Given the description of an element on the screen output the (x, y) to click on. 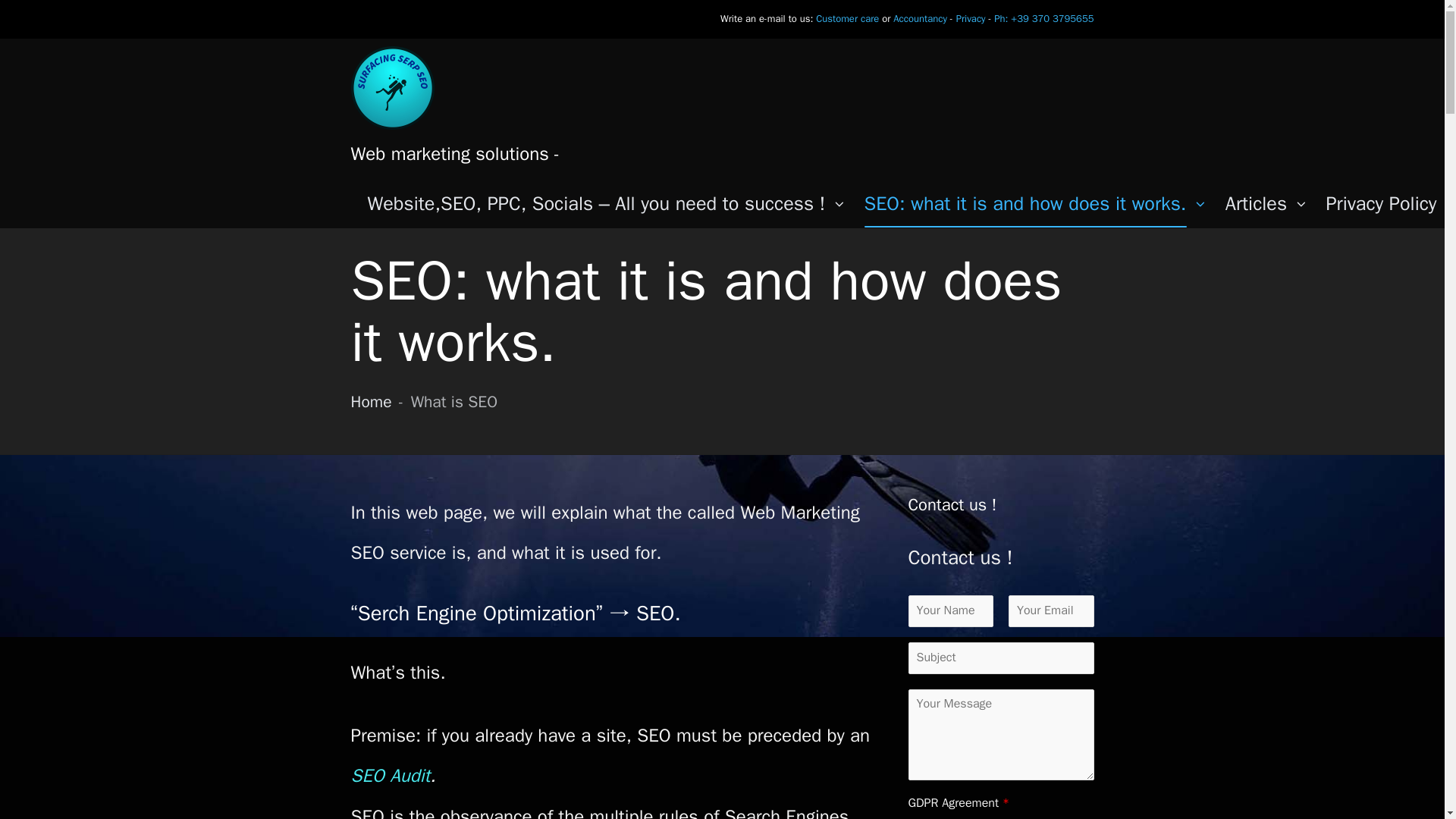
Privacy (970, 19)
Home (370, 402)
SEO: what it is and how does it works. (1035, 204)
Articles (1266, 204)
Privacy Policy (1379, 204)
SEO Audit (389, 775)
Customer care (847, 19)
Accountancy (920, 19)
